Given the description of an element on the screen output the (x, y) to click on. 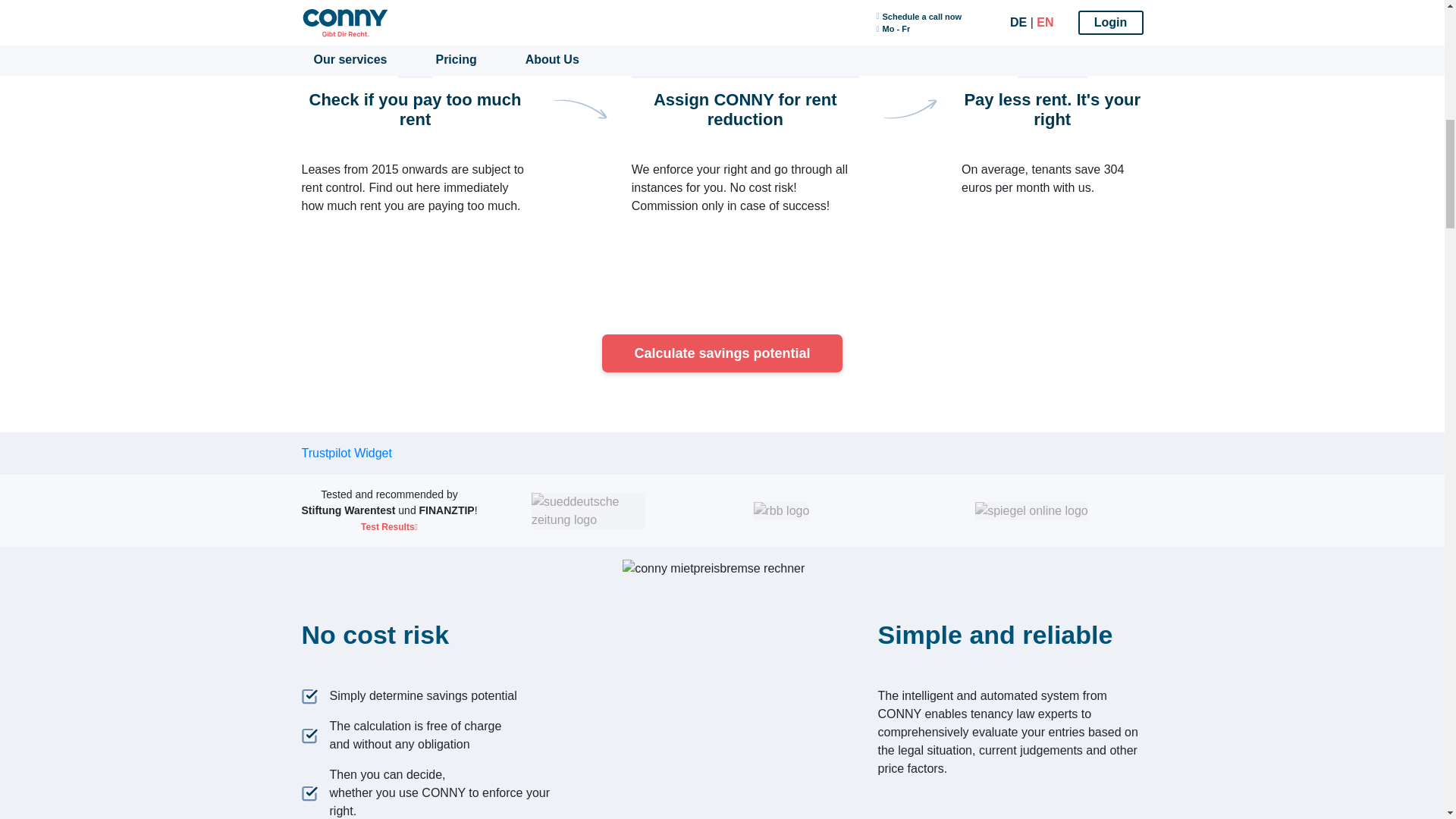
Calculate savings potential (721, 353)
Test Results (389, 526)
Trustpilot Widget (346, 452)
